Given the description of an element on the screen output the (x, y) to click on. 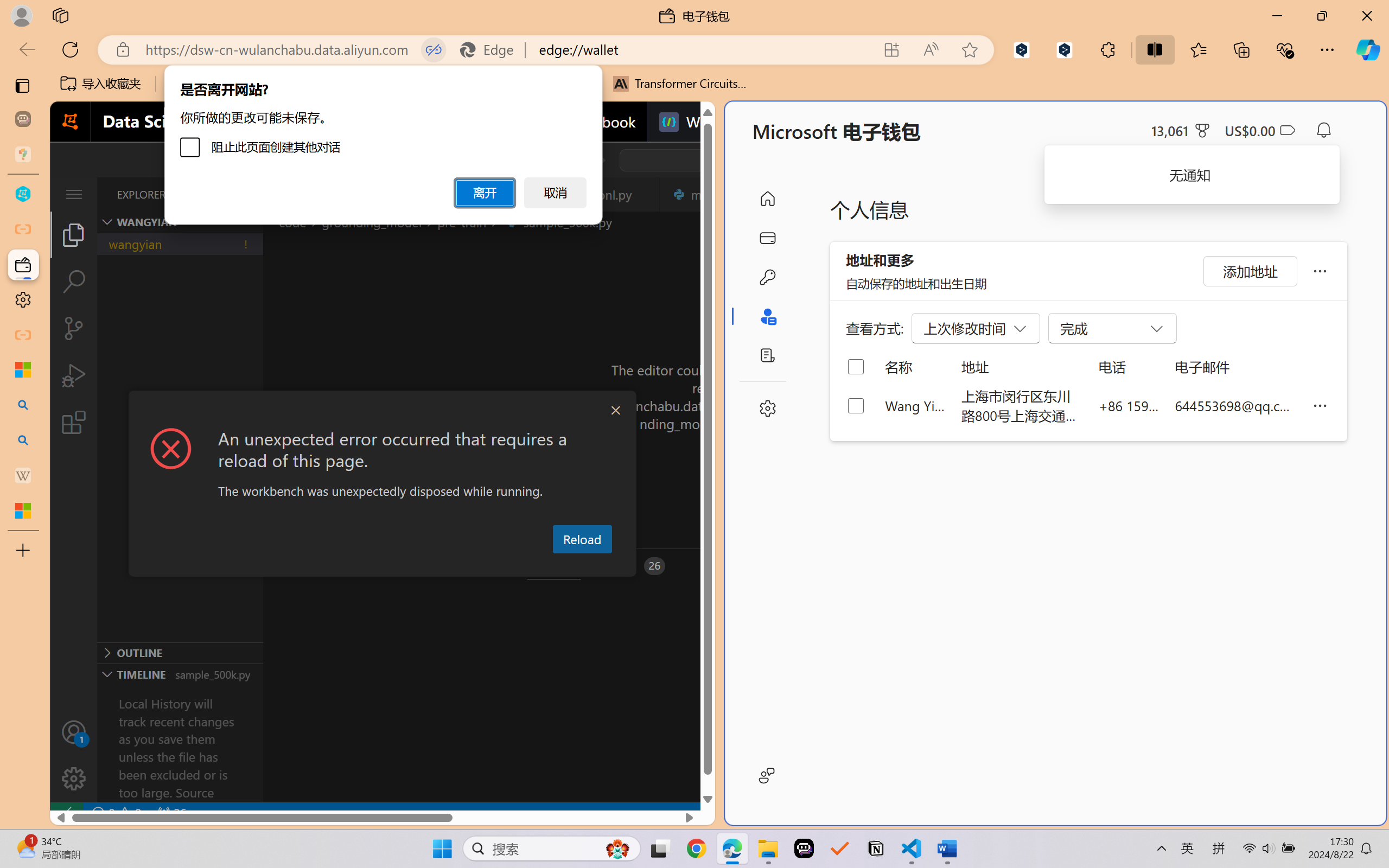
Run and Debug (Ctrl+Shift+D) (73, 375)
Source Control (Ctrl+Shift+G) (73, 328)
Search (Ctrl+Shift+F) (73, 281)
Reload (581, 538)
